Given the description of an element on the screen output the (x, y) to click on. 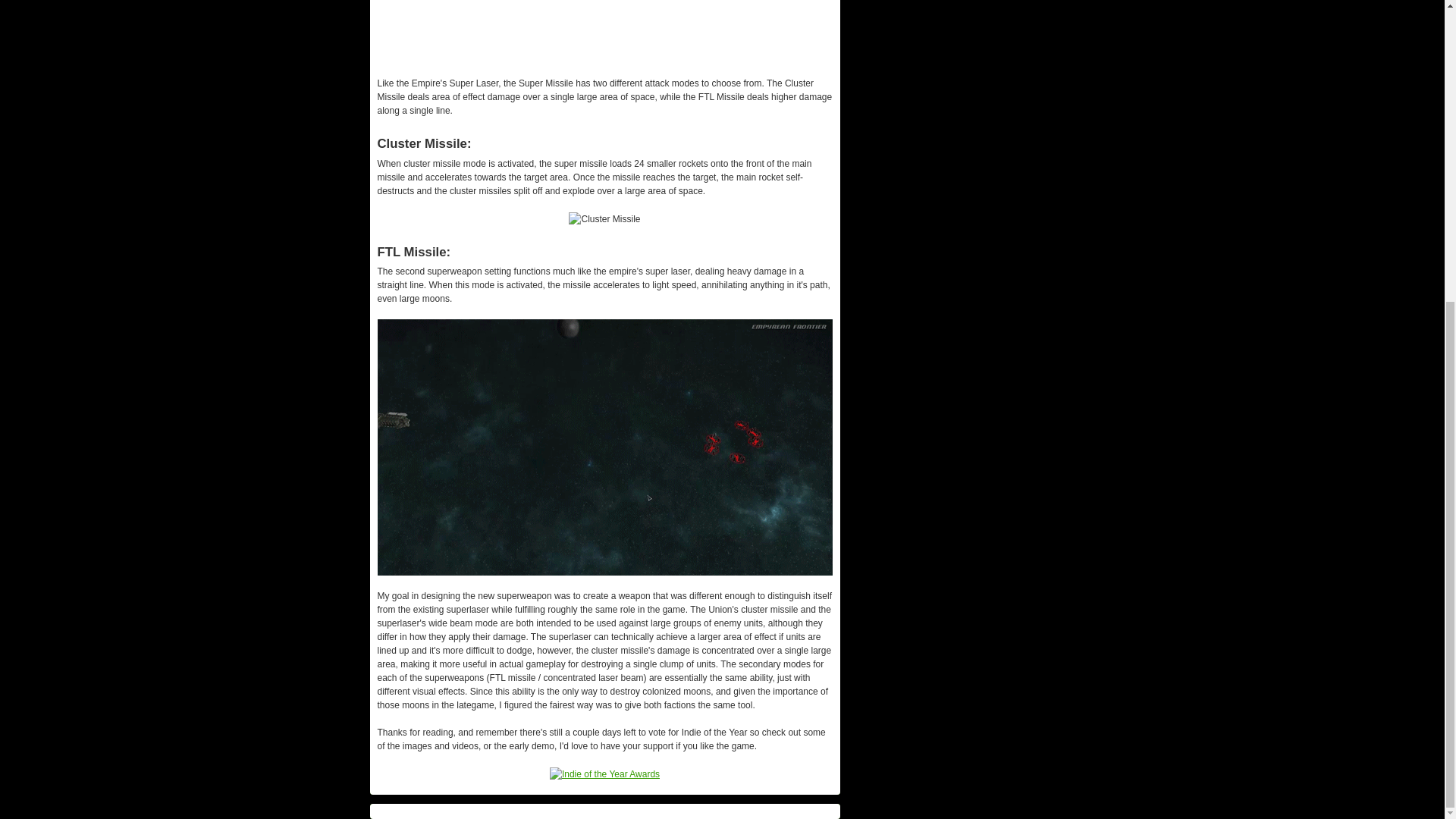
Vote for us in the 2015 Indie of the Year Awards (604, 773)
